Given the description of an element on the screen output the (x, y) to click on. 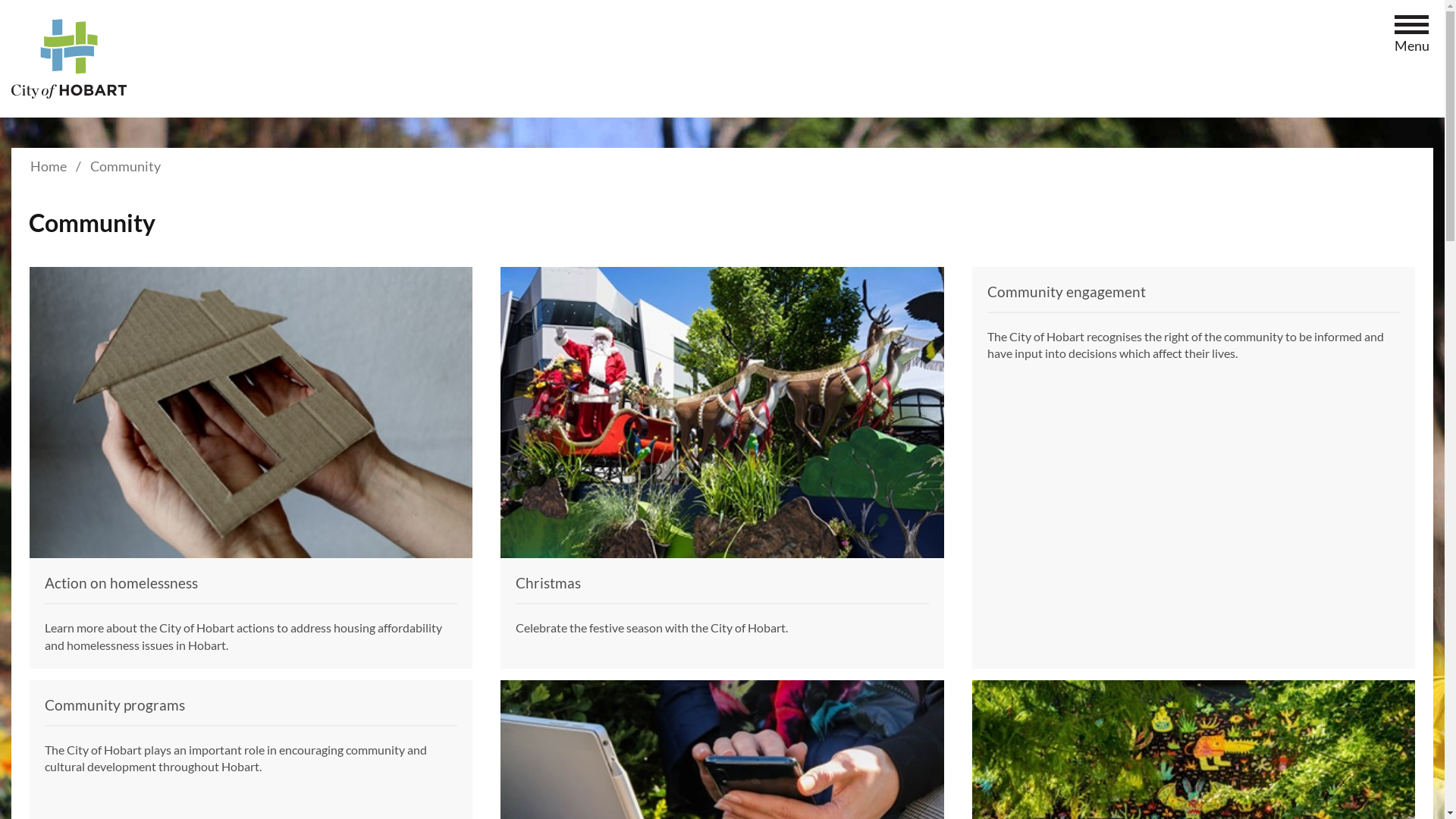
Home - City of Hobart - Logo Element type: text (69, 58)
Home Element type: text (48, 165)
Open
Menu
below search button Element type: text (1411, 27)
